Given the description of an element on the screen output the (x, y) to click on. 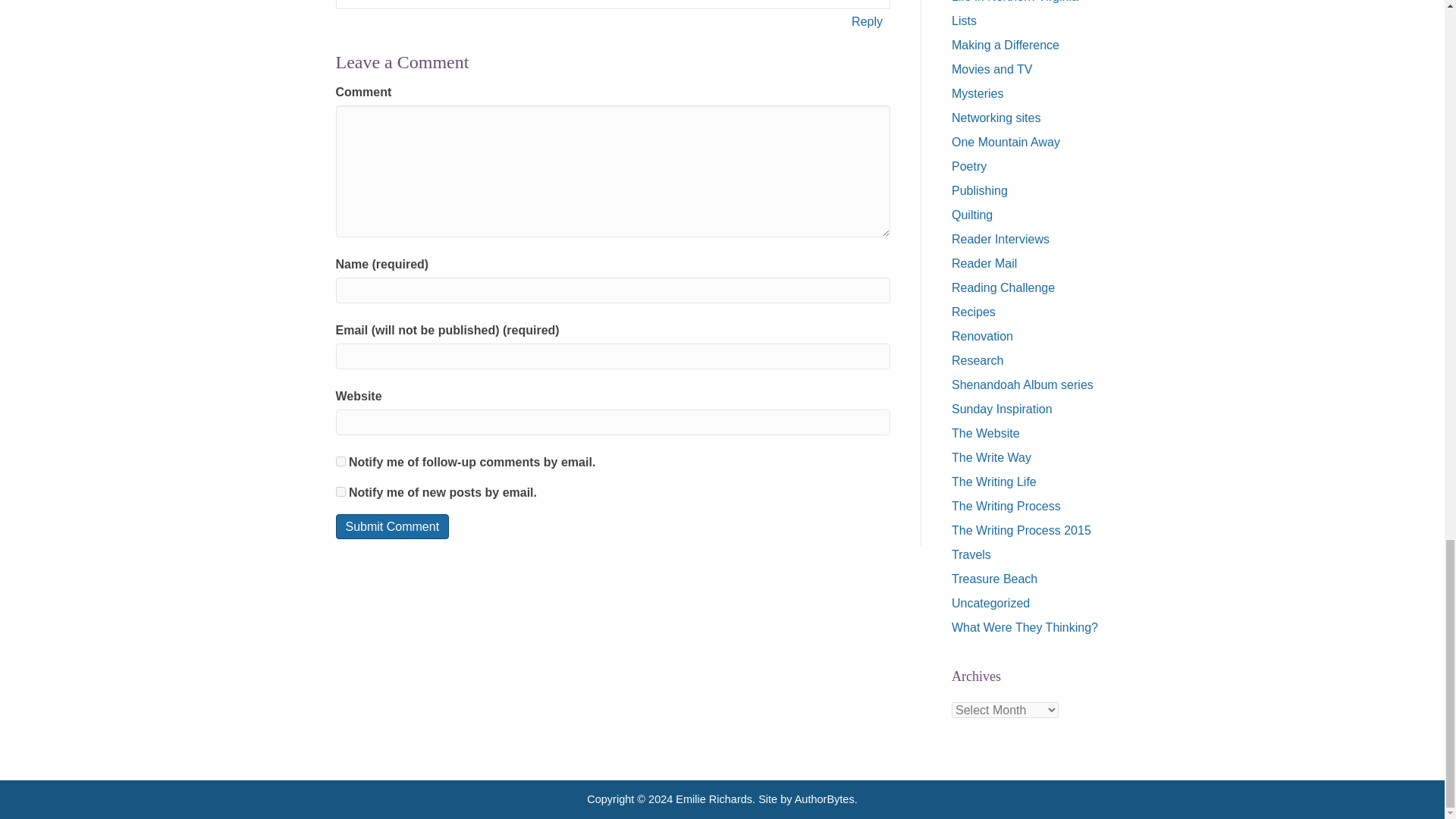
Submit Comment (391, 526)
Reply (866, 21)
Submit Comment (391, 526)
subscribe (339, 491)
subscribe (339, 461)
